Given the description of an element on the screen output the (x, y) to click on. 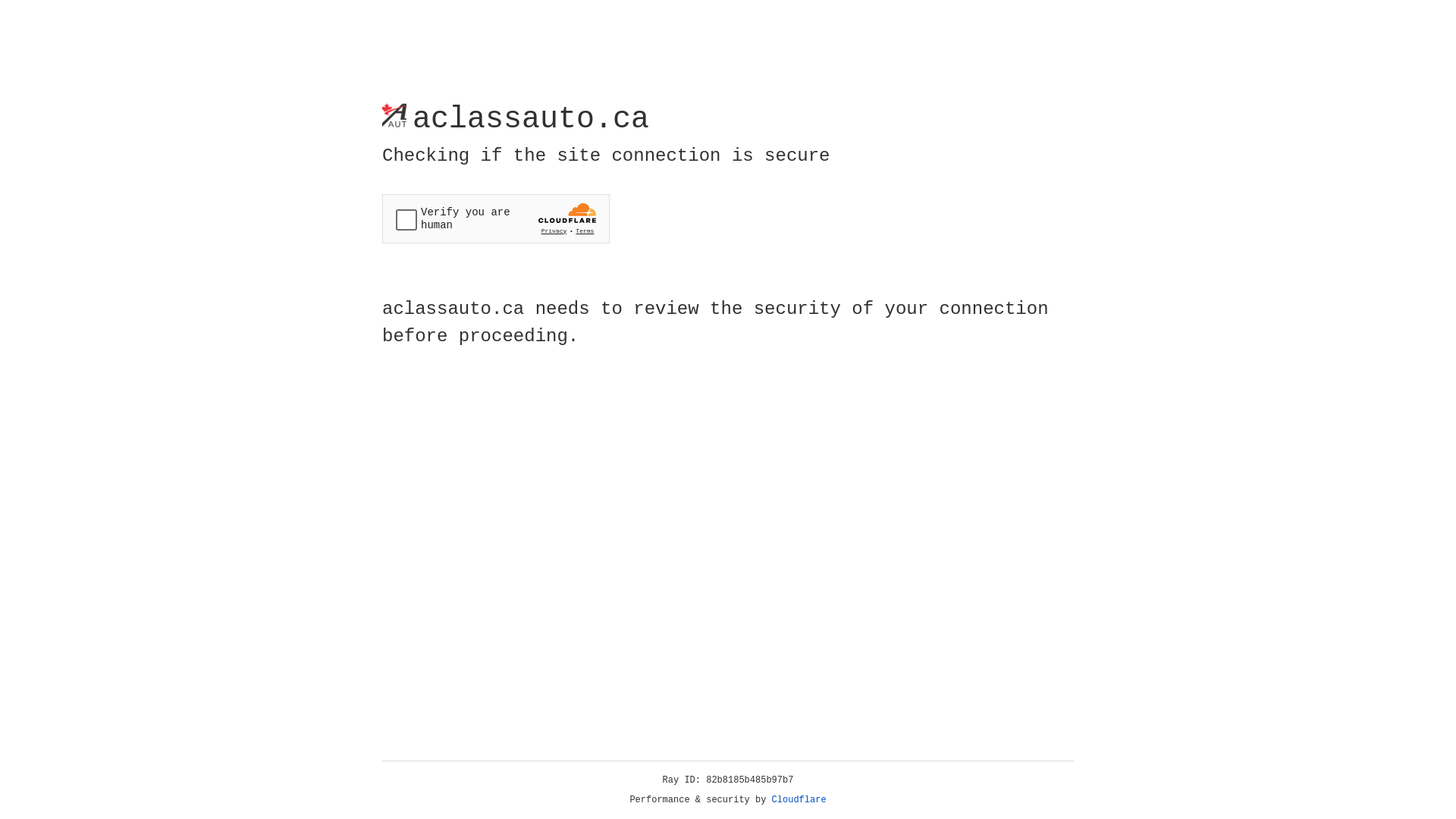
Widget containing a Cloudflare security challenge Element type: hover (495, 218)
Cloudflare Element type: text (798, 799)
